Given the description of an element on the screen output the (x, y) to click on. 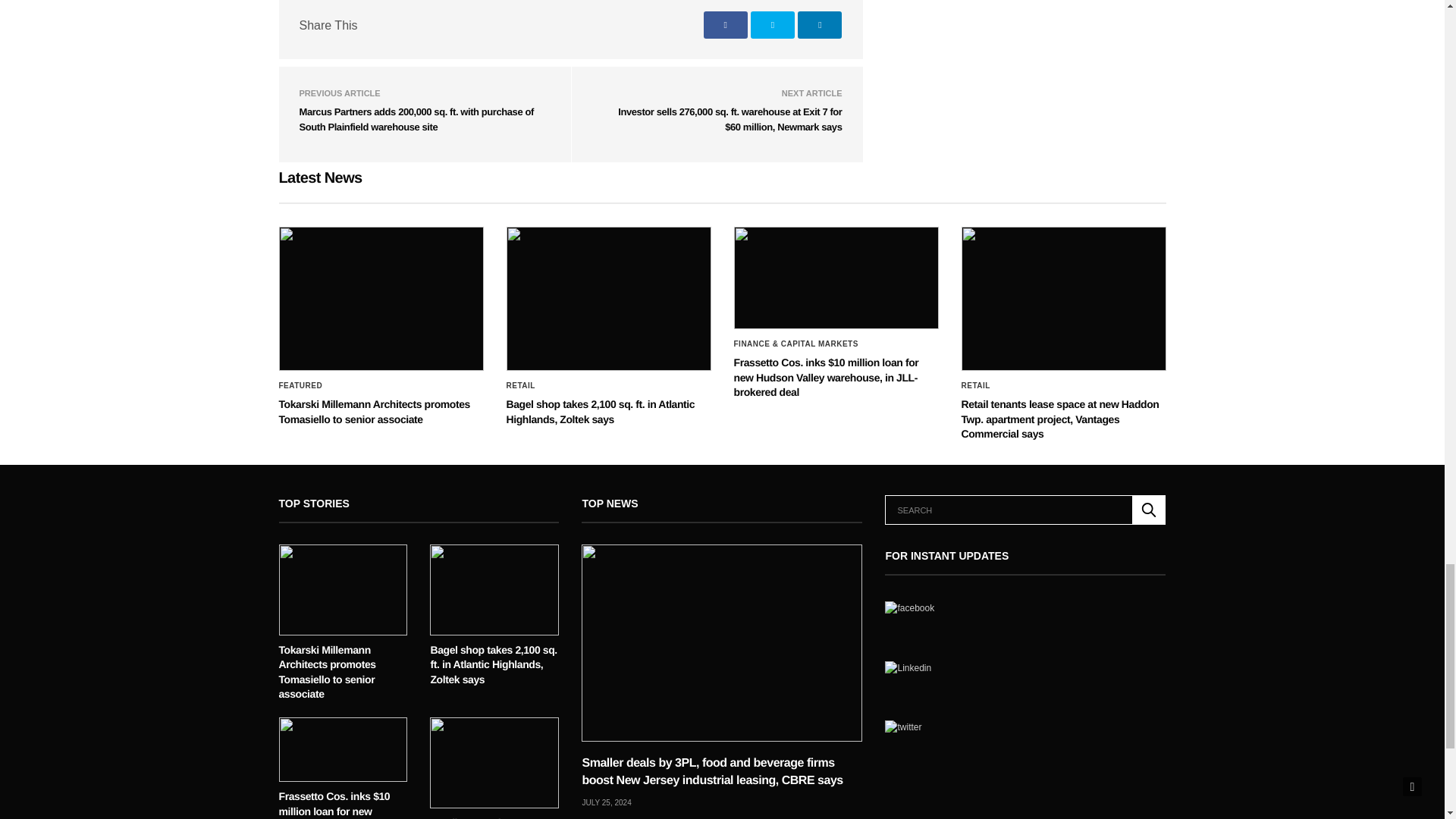
Search (1149, 509)
